Given the description of an element on the screen output the (x, y) to click on. 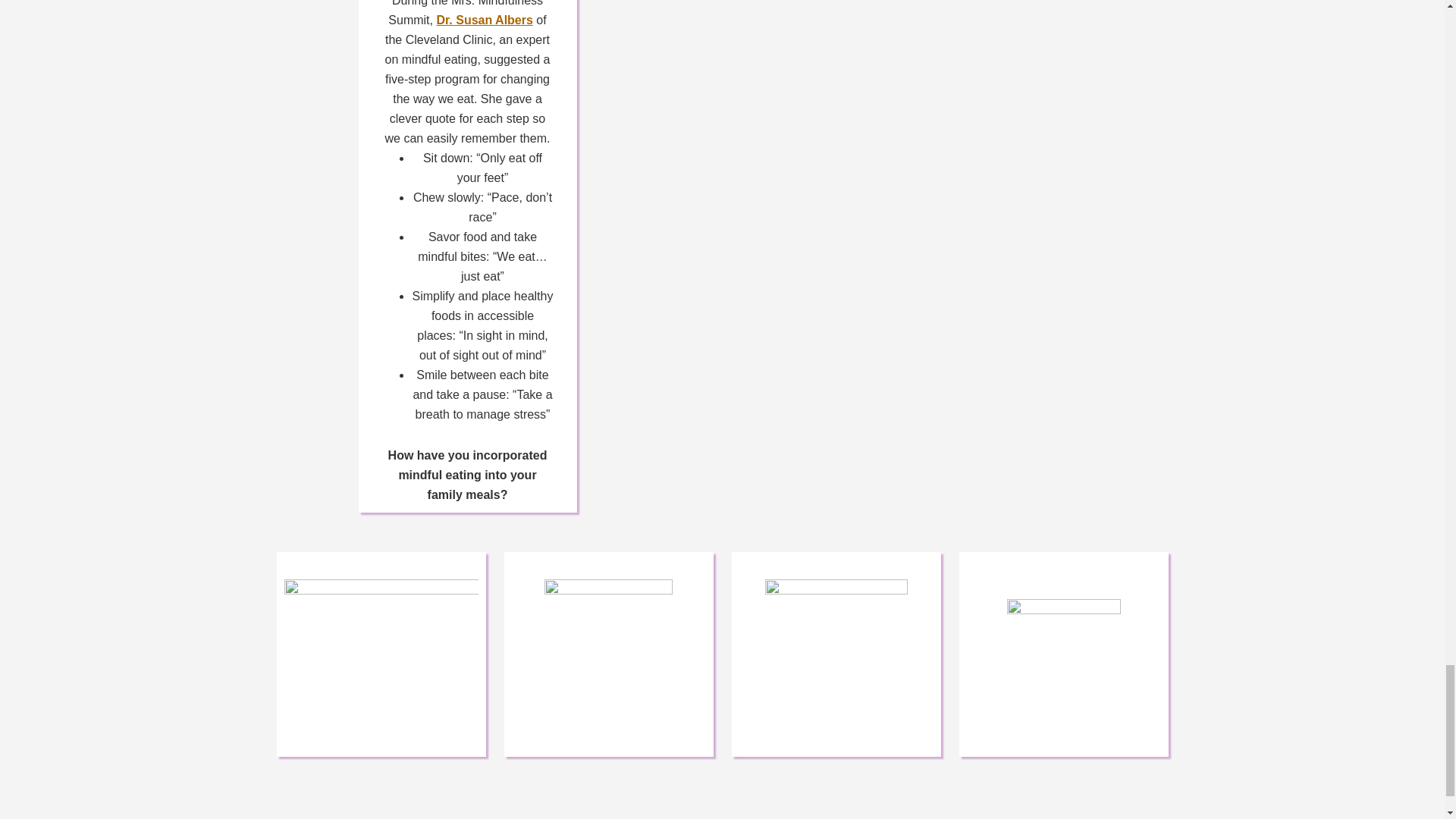
Dr. Susan Albers (483, 19)
